Given the description of an element on the screen output the (x, y) to click on. 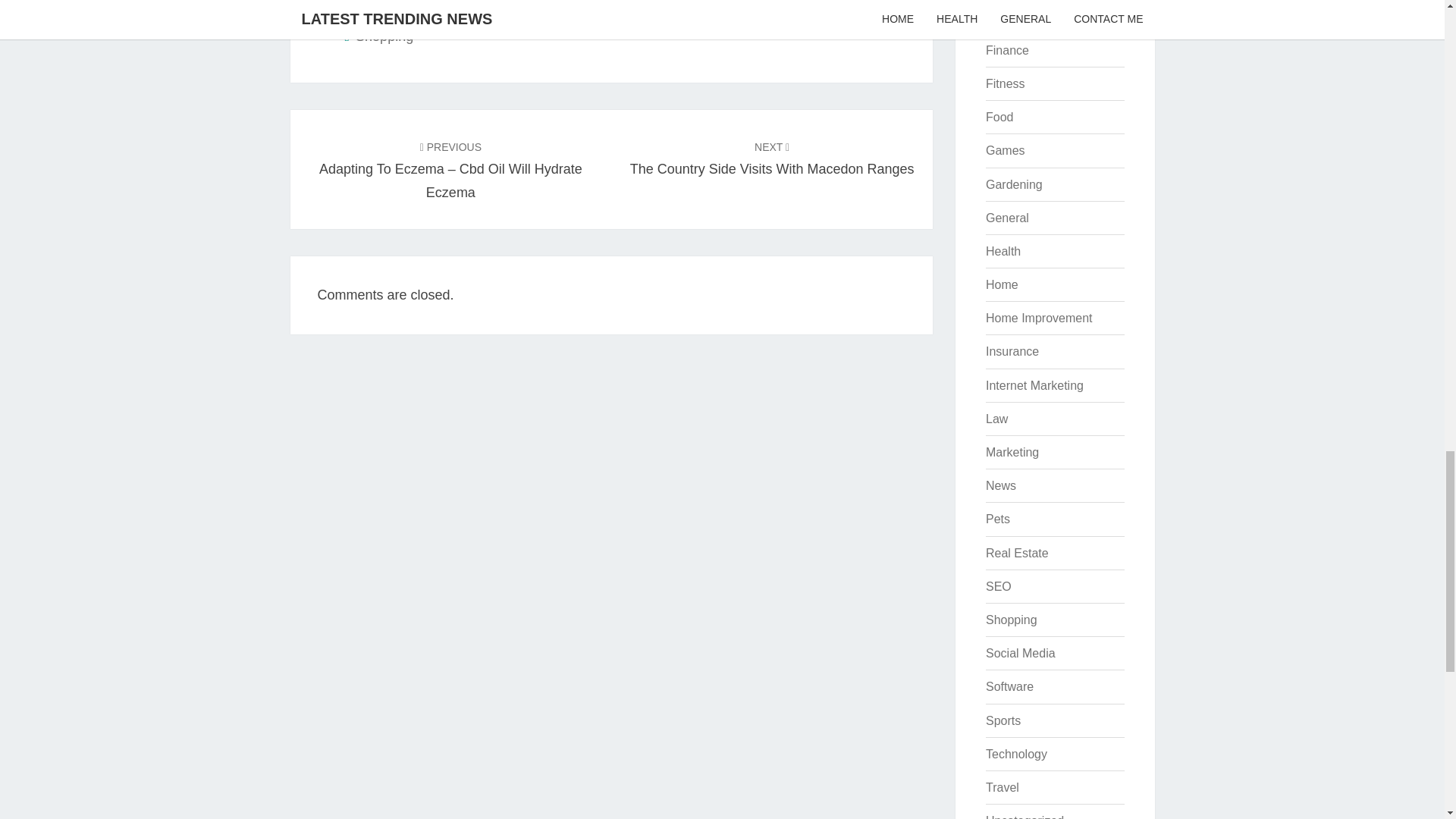
Games (1005, 150)
General (1007, 217)
Home Improvement (1039, 318)
Shopping (384, 36)
Fitness (1005, 83)
Food (772, 157)
Home (999, 116)
Health (1001, 284)
Finance (1002, 250)
Gardening (1007, 50)
Fashion (1013, 184)
